Given the description of an element on the screen output the (x, y) to click on. 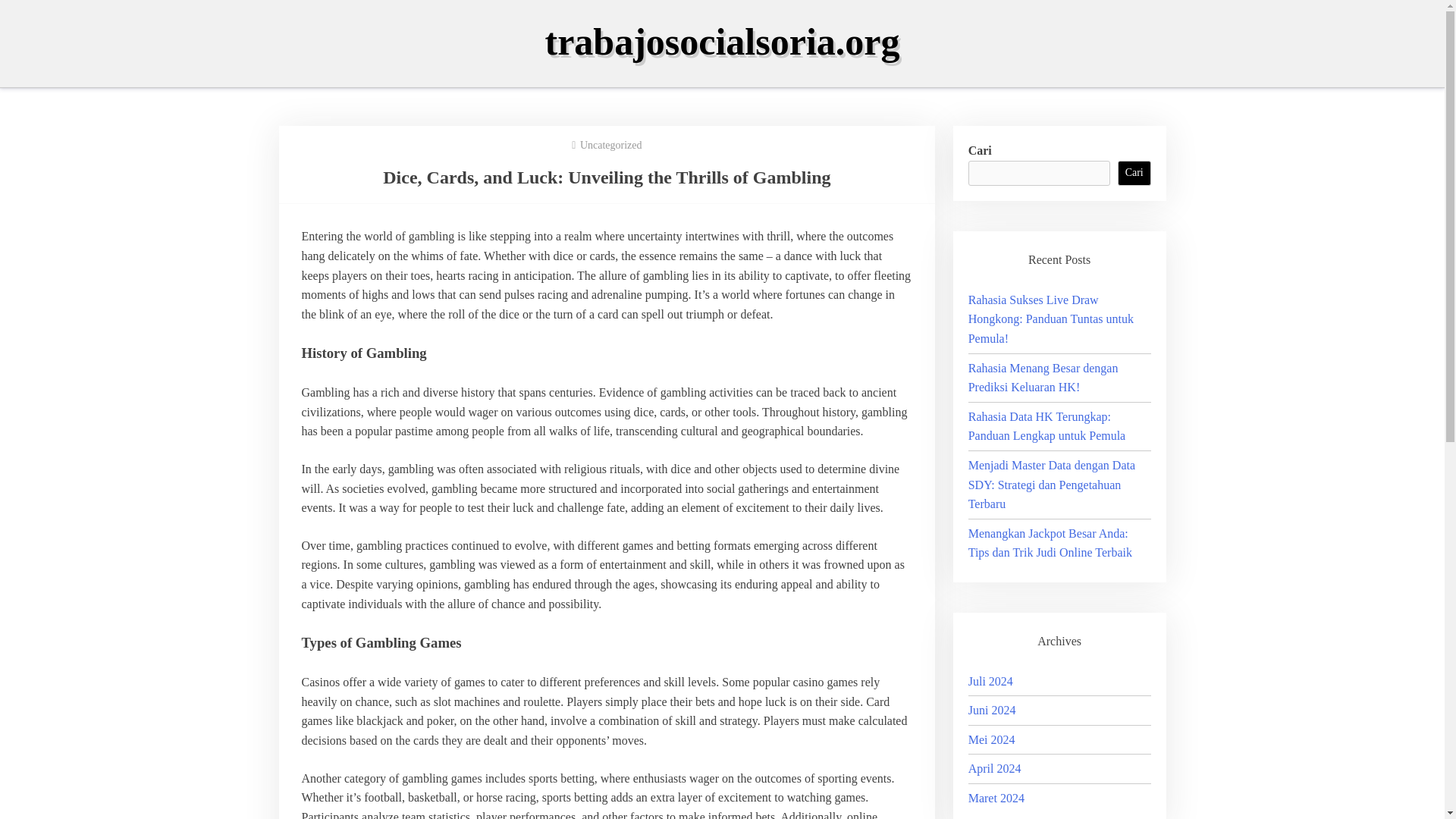
Juli 2024 (990, 680)
Juni 2024 (992, 709)
trabajosocialsoria.org (721, 41)
April 2024 (995, 768)
Maret 2024 (996, 797)
Rahasia Menang Besar dengan Prediksi Keluaran HK! (1043, 377)
Mei 2024 (991, 739)
